Given the description of an element on the screen output the (x, y) to click on. 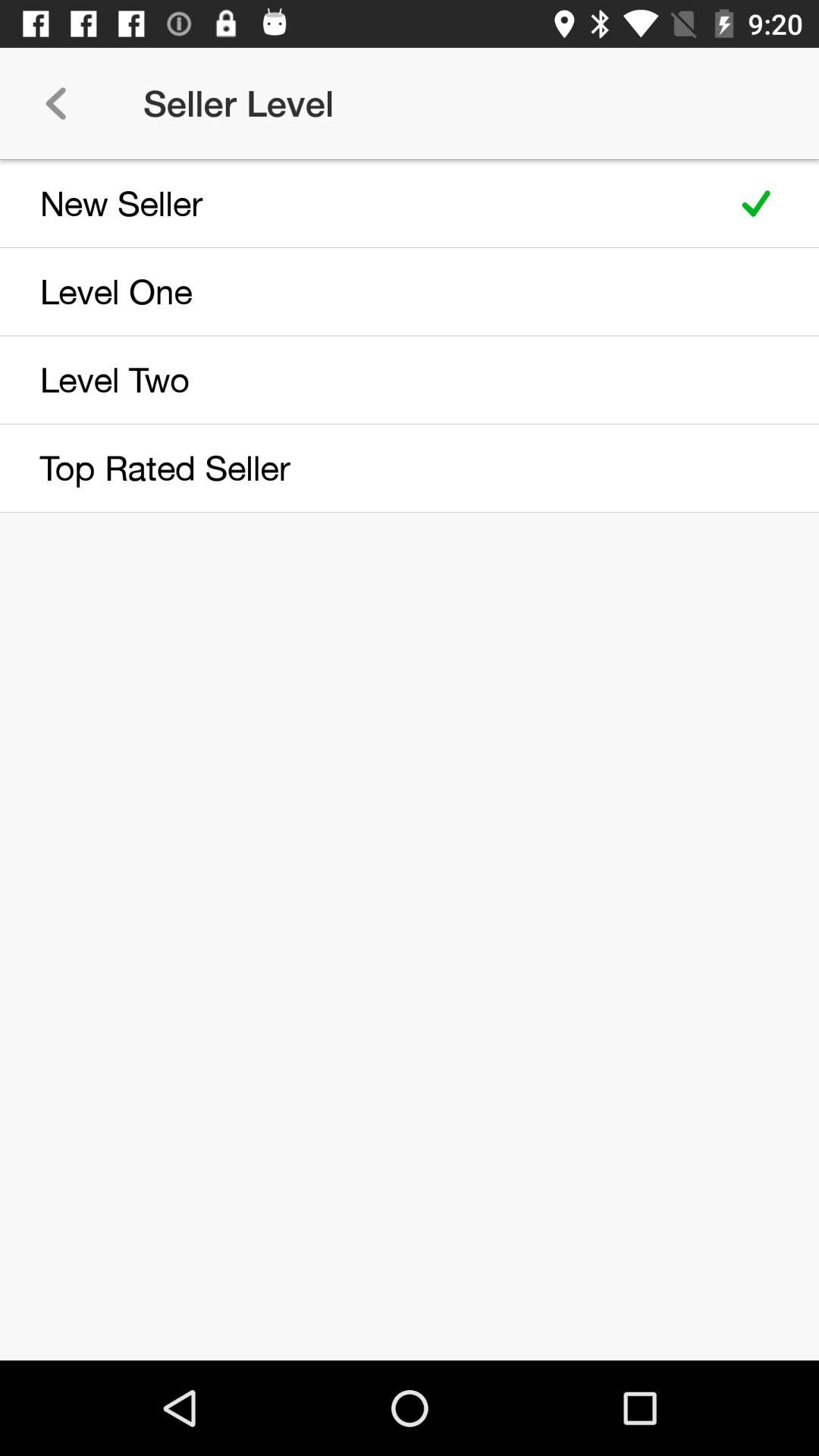
flip to new seller icon (358, 203)
